Given the description of an element on the screen output the (x, y) to click on. 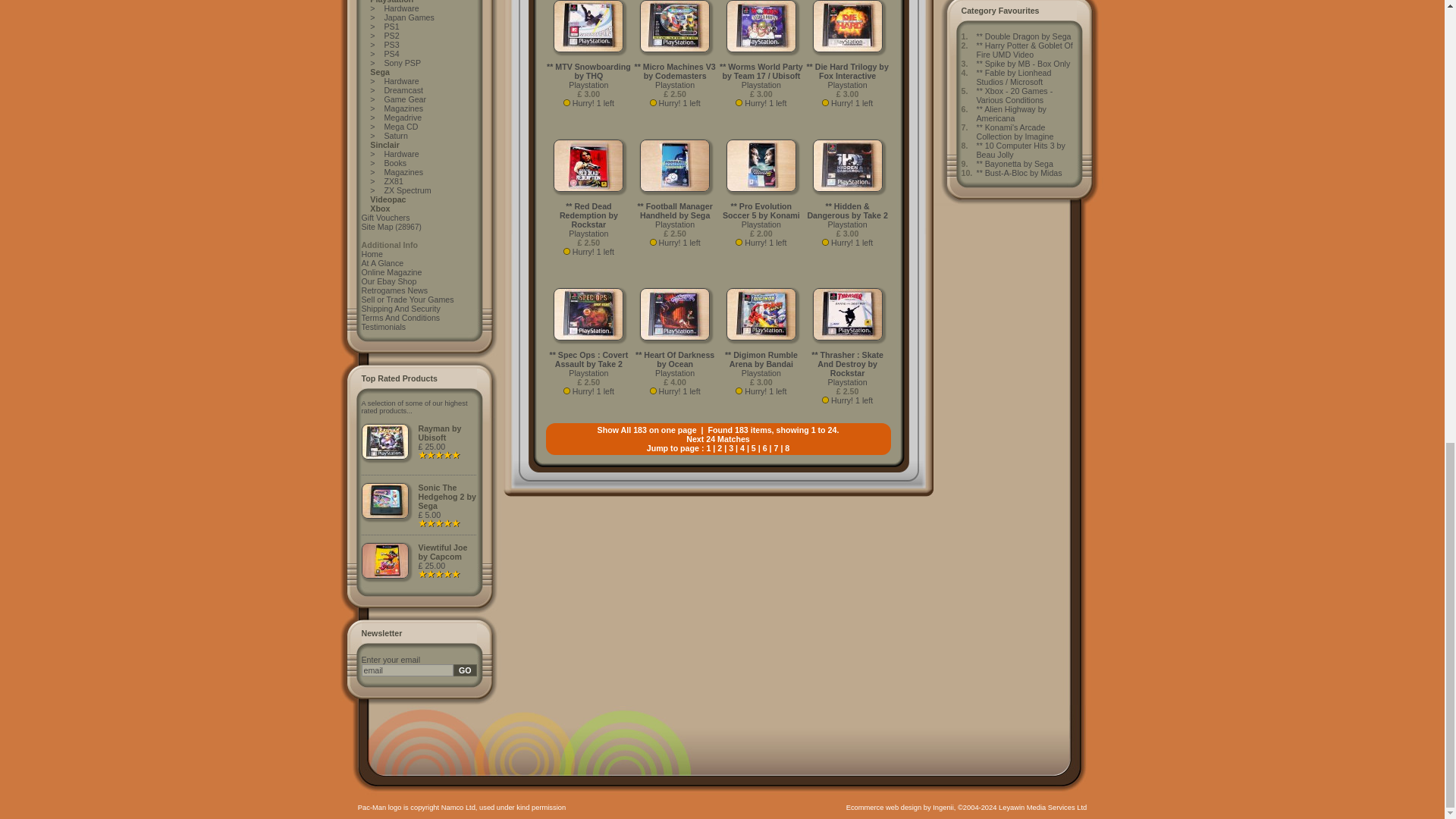
email (406, 670)
GO (464, 670)
